Given the description of an element on the screen output the (x, y) to click on. 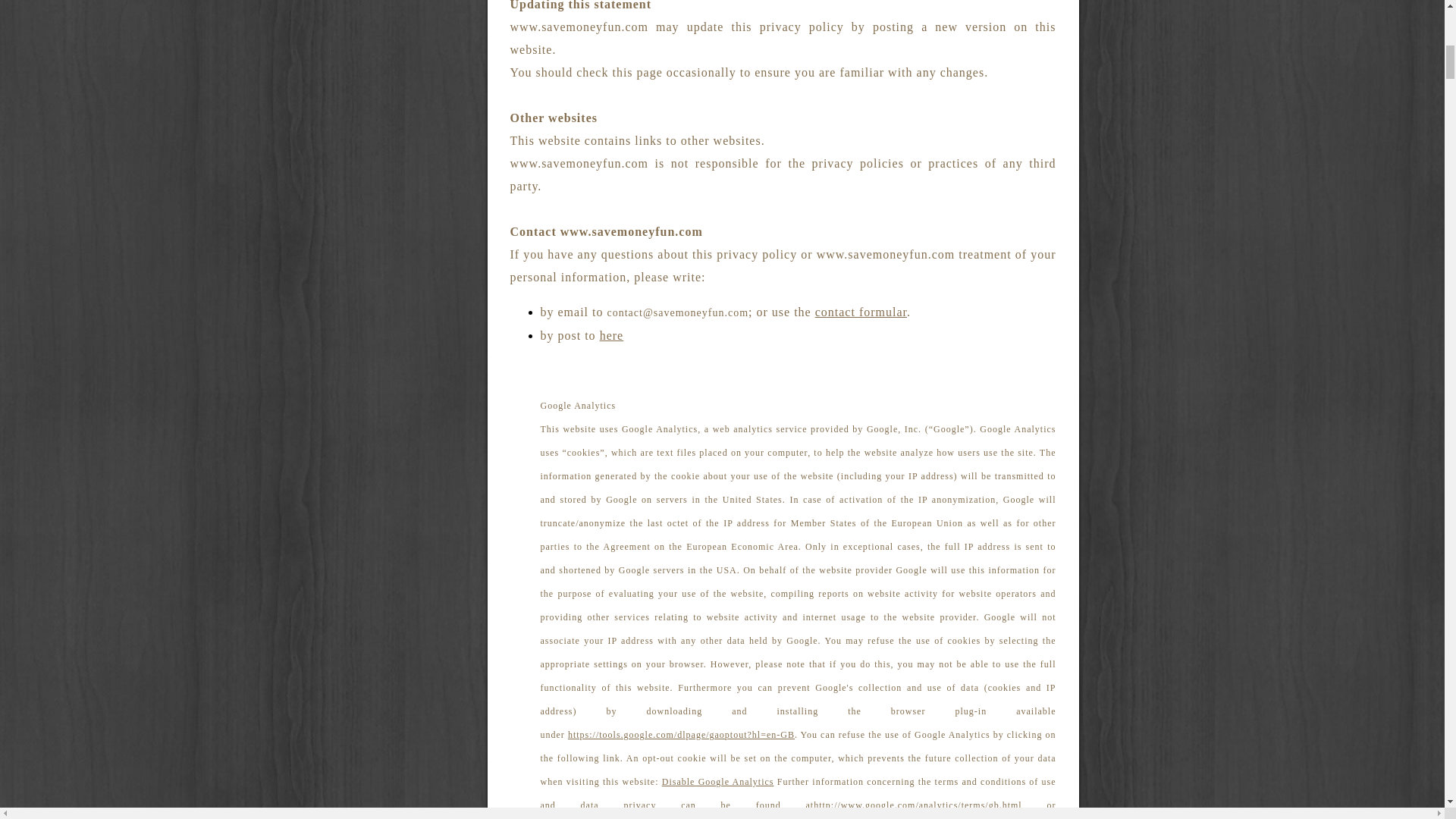
Disable Google Analytics (718, 781)
contact formular (861, 311)
here (611, 335)
